Given the description of an element on the screen output the (x, y) to click on. 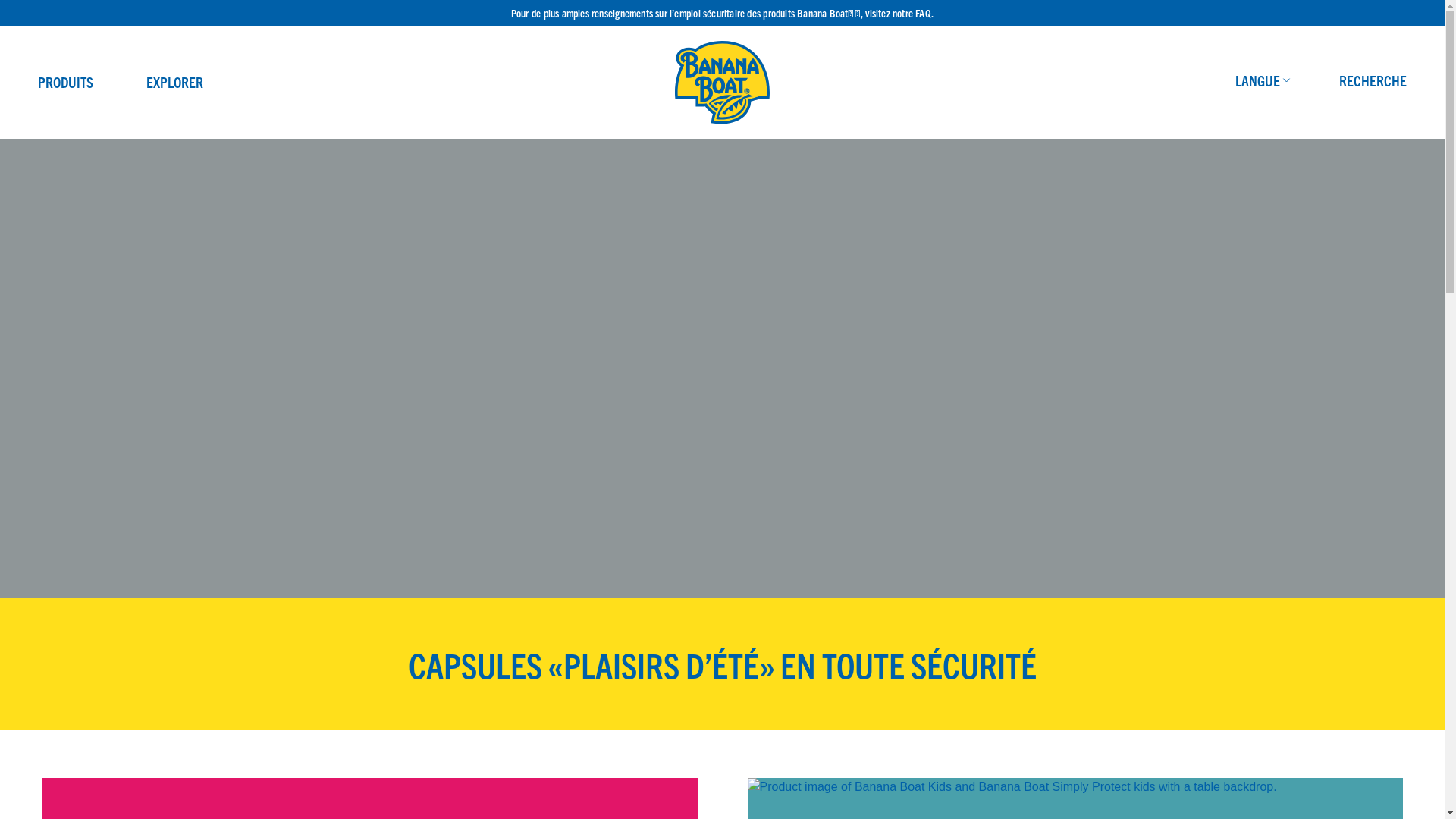
en Element type: text (1276, 115)
EXPLORER Element type: text (174, 81)
fr Element type: text (1276, 134)
PRODUITS Element type: text (65, 81)
LANGUE Element type: text (1264, 80)
RECHERCHE Element type: text (1372, 80)
